Given the description of an element on the screen output the (x, y) to click on. 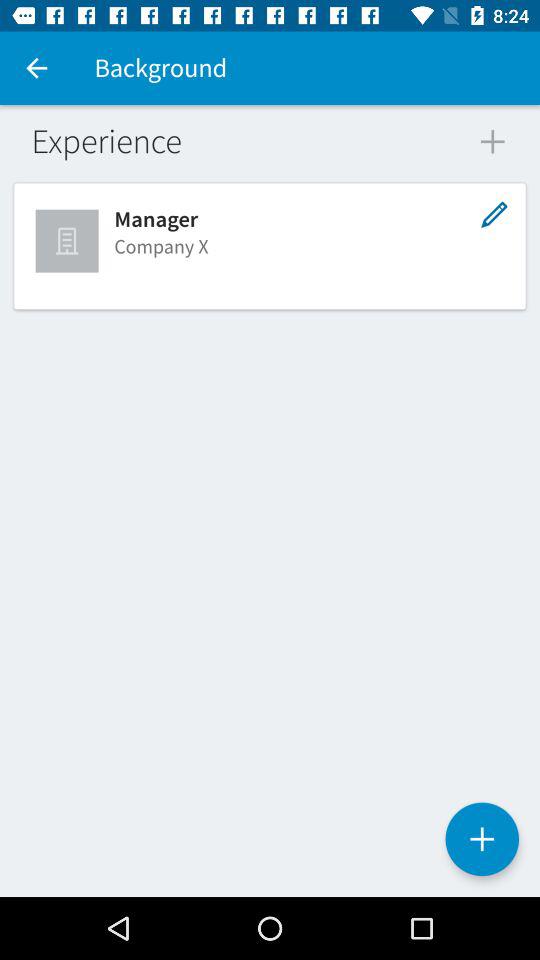
turn off icon above the experience icon (36, 68)
